Given the description of an element on the screen output the (x, y) to click on. 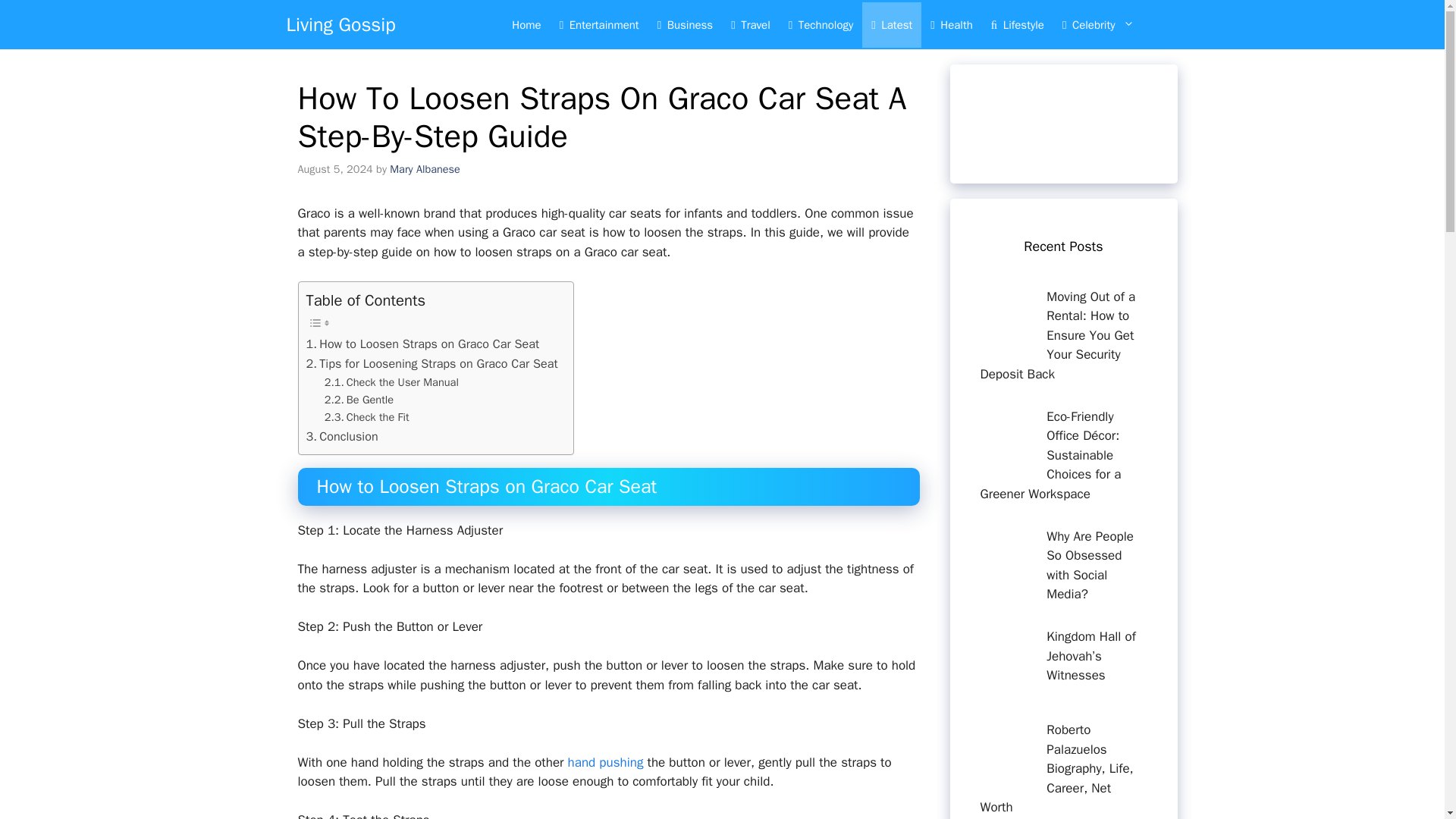
Celebrity (1105, 23)
Latest (891, 23)
Entertainment (598, 23)
View all posts by Mary Albanese (425, 169)
Check the Fit (366, 416)
Conclusion (341, 436)
Check the User Manual (391, 382)
How to Loosen Straps on Graco Car Seat (422, 343)
Check the Fit (366, 416)
Why Are People So Obsessed with Social Media? (1090, 564)
